Given the description of an element on the screen output the (x, y) to click on. 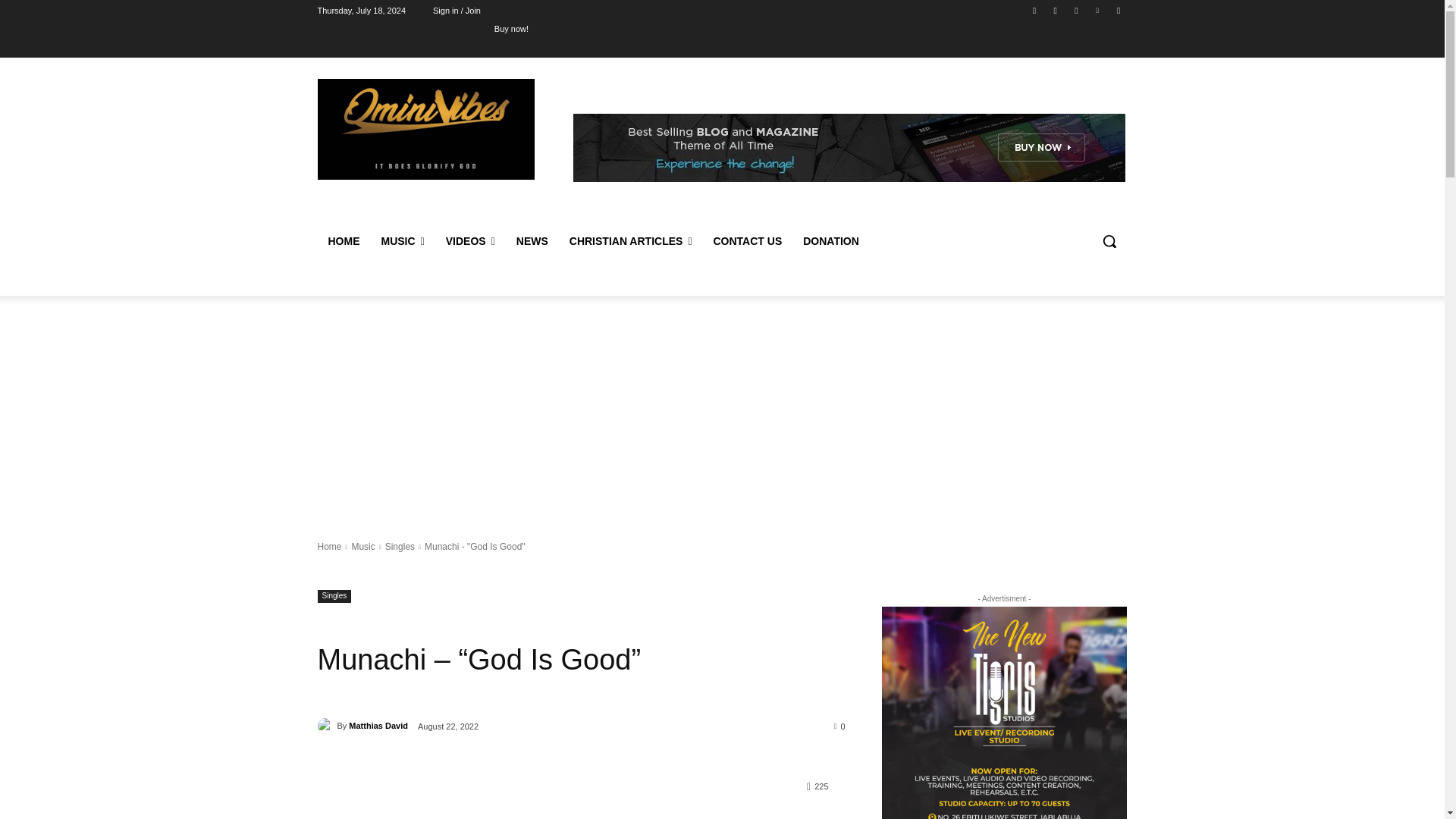
HOME (343, 240)
Instagram (1055, 9)
Facebook (1034, 9)
Buy now! (511, 28)
Youtube (1117, 9)
Twitter (1075, 9)
Vimeo (1097, 9)
